Given the description of an element on the screen output the (x, y) to click on. 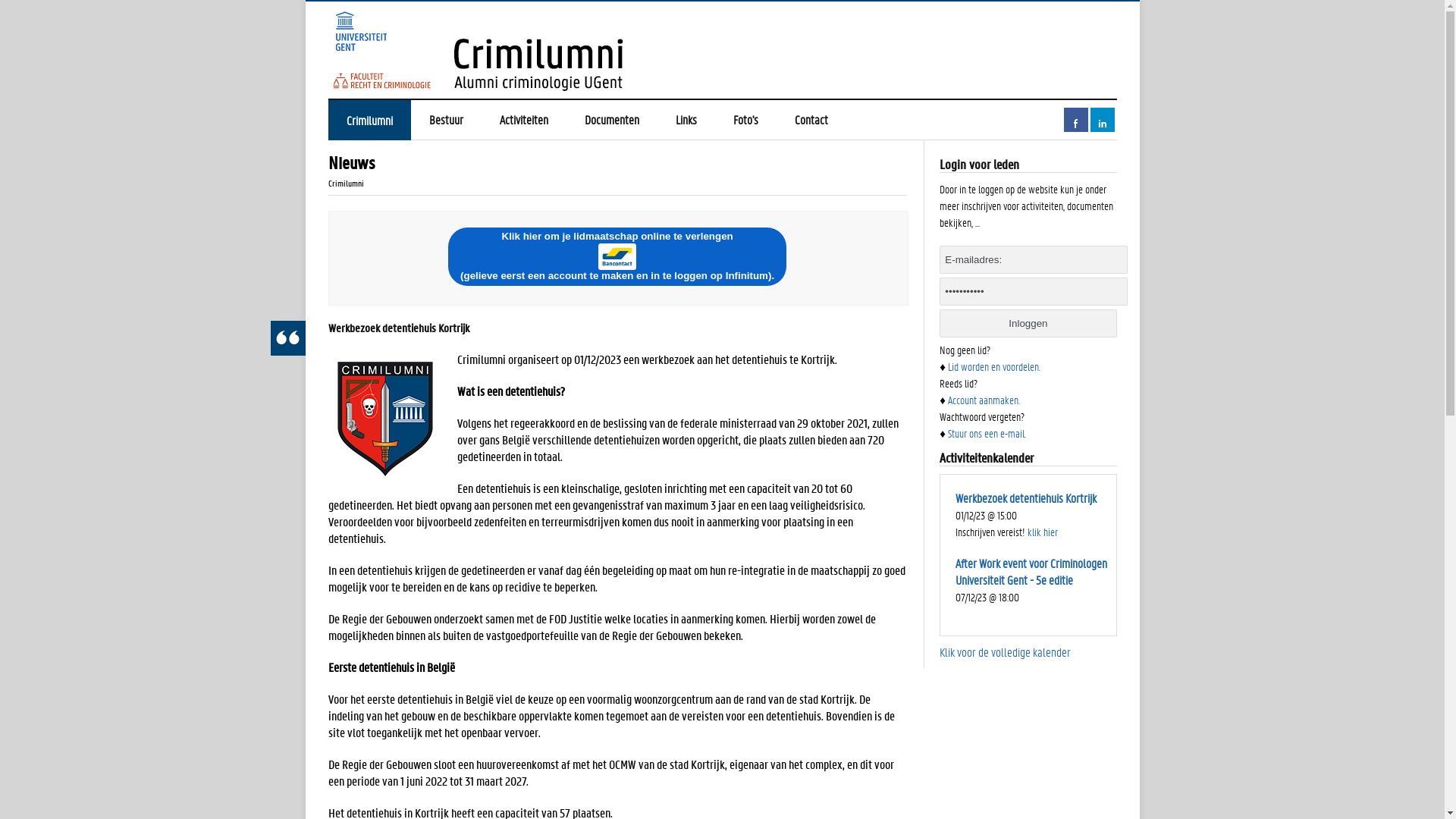
Activiteiten Element type: text (522, 119)
Links Element type: text (685, 119)
Crimilumni Element type: text (368, 120)
Bestuur Element type: text (446, 119)
Lid worden en voordelen. Element type: text (993, 365)
Foto's Element type: text (744, 119)
Klik voor de volledige kalender Element type: text (1004, 651)
Inloggen Element type: text (1027, 323)
Crimilumni Element type: text (721, 50)
klik hier Element type: text (1042, 531)
Account aanmaken. Element type: text (983, 399)
Werkbezoek detentiehuis Kortrijk Element type: text (1025, 497)
Stuur ons een e-mail. Element type: text (986, 432)
Documenten Element type: text (610, 119)
Contact Element type: text (811, 119)
